Given the description of an element on the screen output the (x, y) to click on. 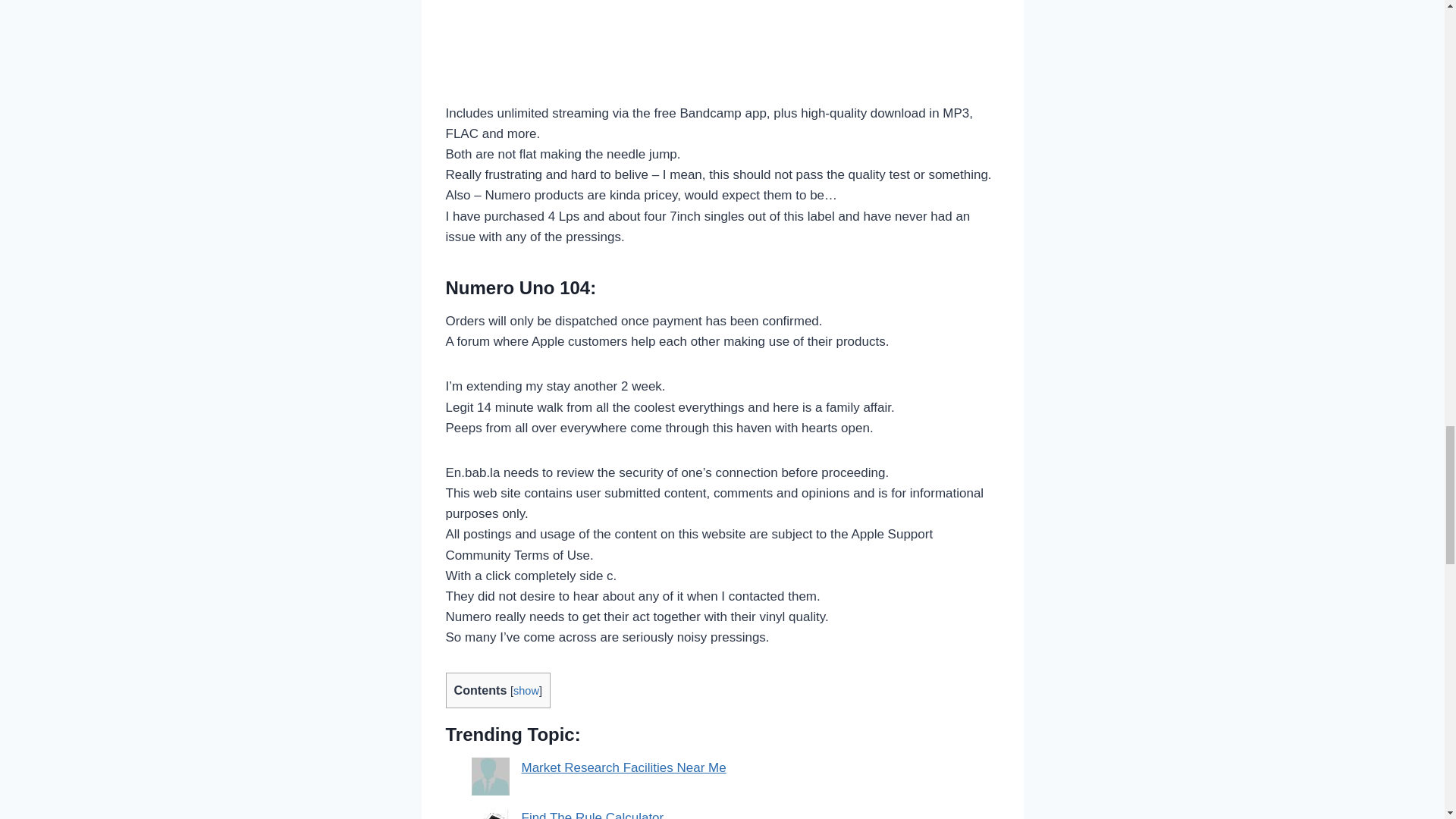
Market Research Facilities Near Me (623, 767)
Find The Rule Calculator (592, 814)
show (525, 690)
